Given the description of an element on the screen output the (x, y) to click on. 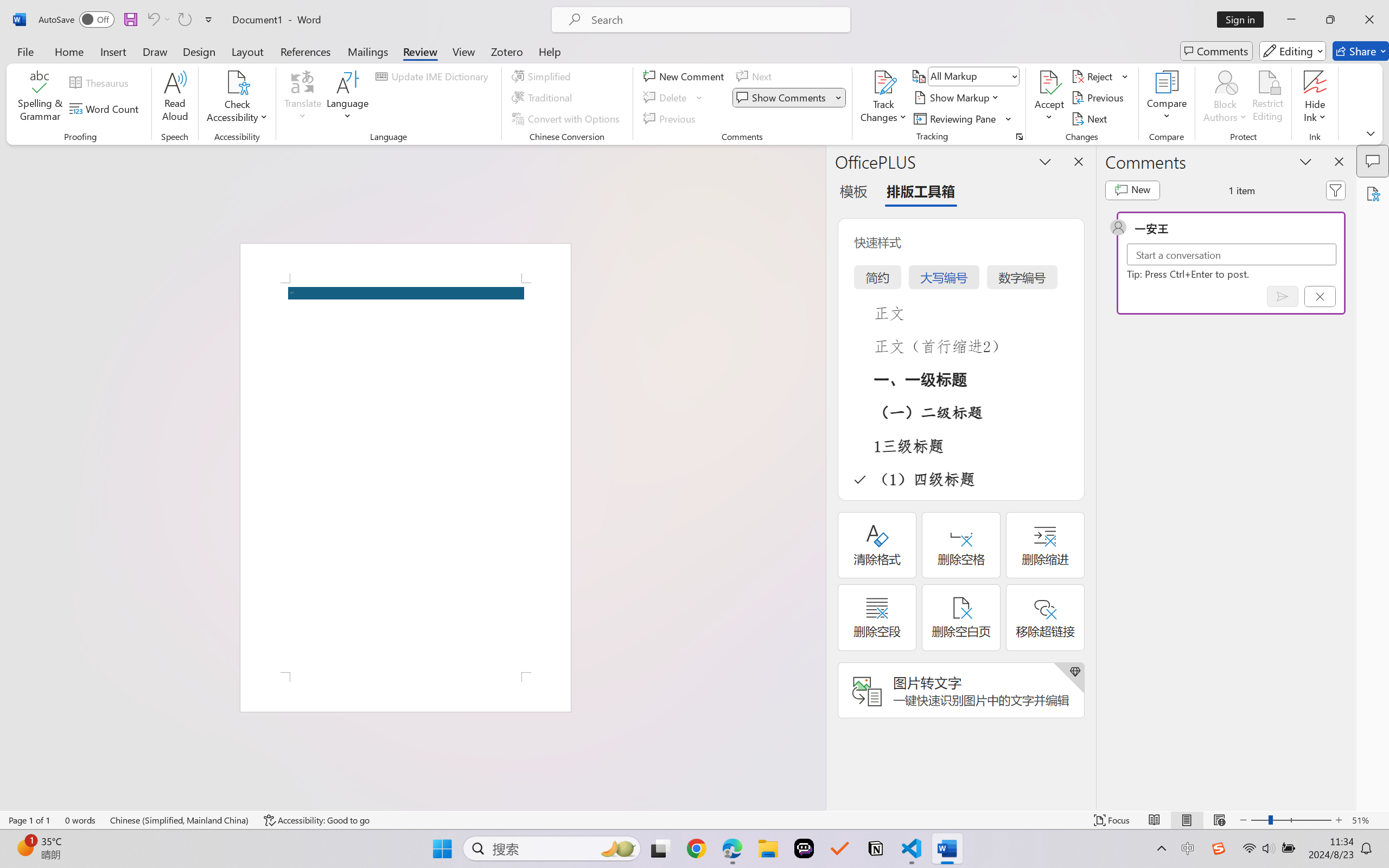
Change Tracking Options... (1019, 136)
